Given the description of an element on the screen output the (x, y) to click on. 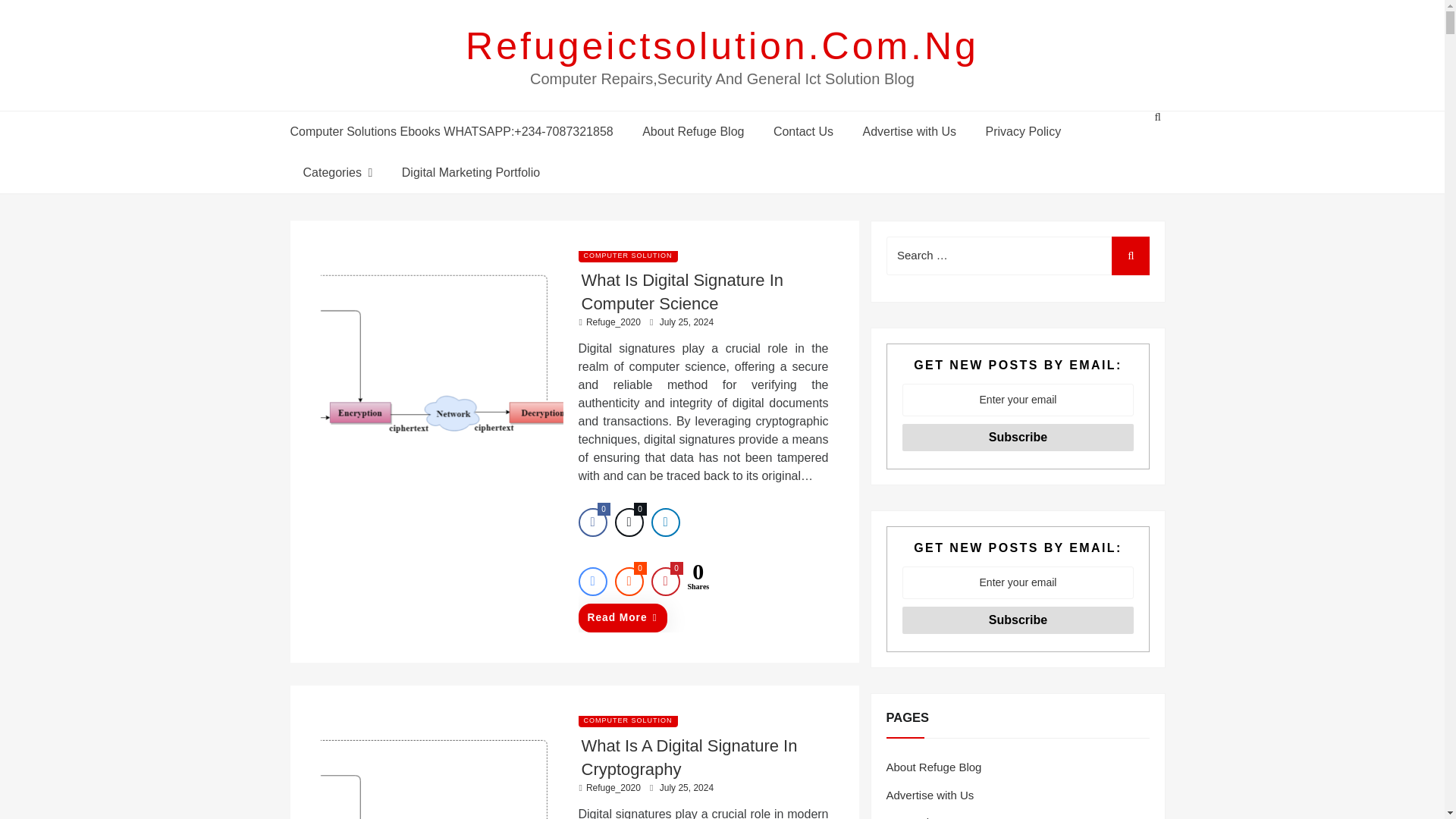
COMPUTER SOLUTION (627, 255)
Subscribe (1018, 619)
Subscribe (1018, 437)
Contact Us (802, 130)
What Is Digital Signature In Computer Science (681, 291)
Categories (337, 171)
July 25, 2024 (686, 321)
About Refuge Blog (692, 130)
What Is A Digital Signature In Cryptography 2 (441, 767)
Advertise with Us (908, 130)
Digital Marketing Portfolio (467, 171)
What Is Digital Signature In Computer Science 1 (441, 341)
Privacy Policy (1023, 130)
Refugeictsolution.Com.Ng (721, 46)
